Given the description of an element on the screen output the (x, y) to click on. 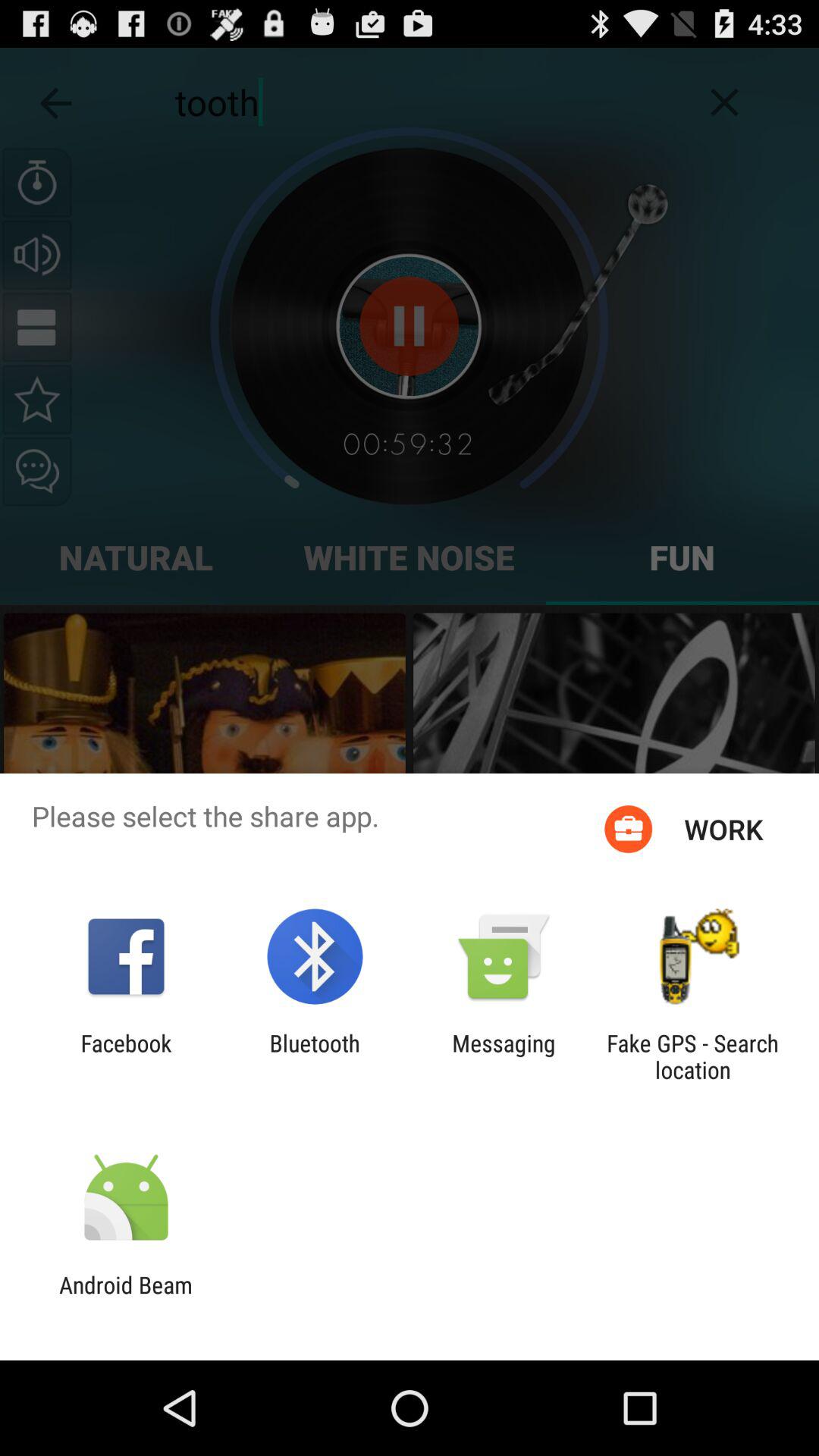
select app at the bottom right corner (692, 1056)
